Given the description of an element on the screen output the (x, y) to click on. 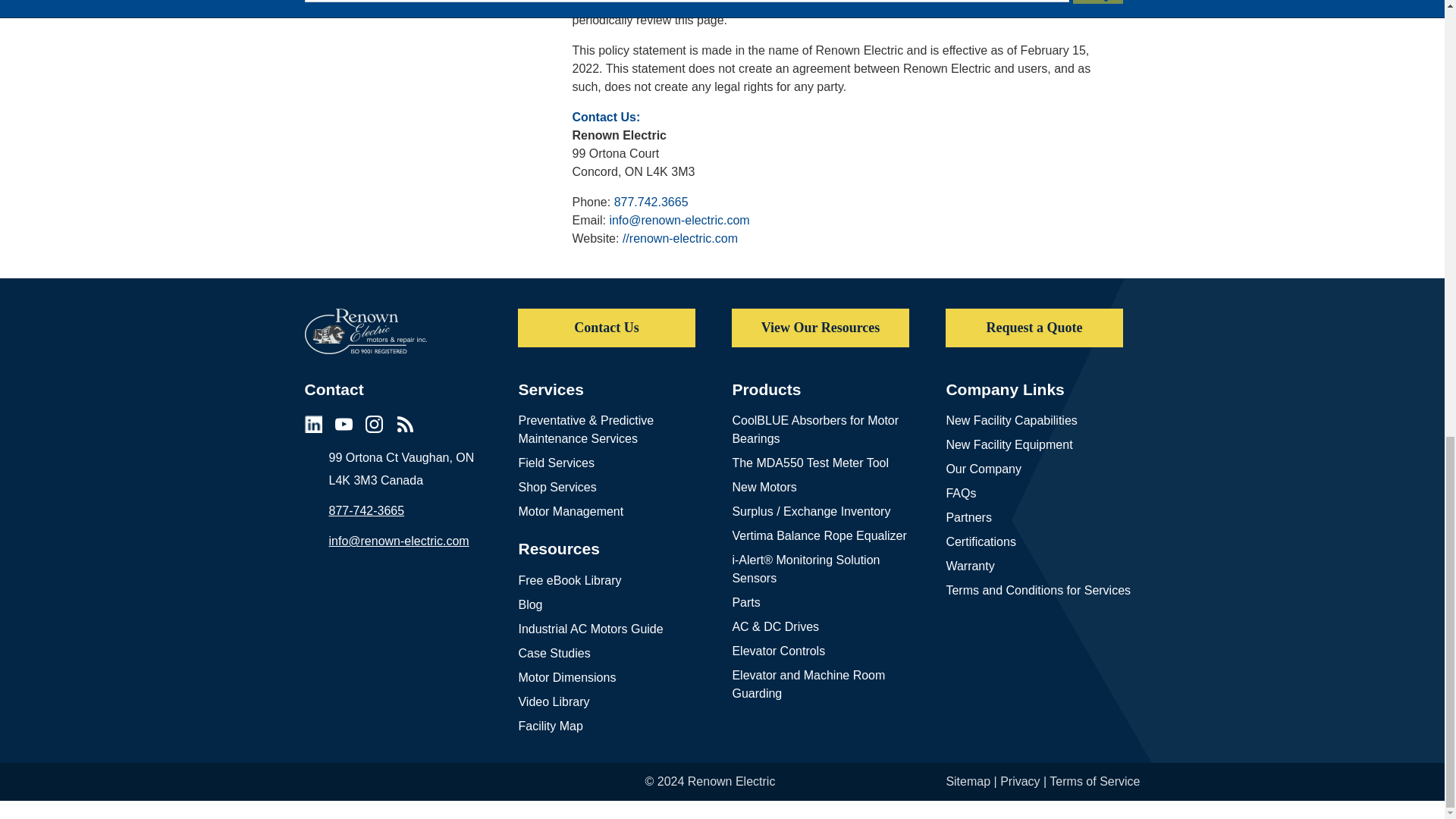
Renown Electric (365, 330)
linkedin (312, 424)
Youtube (343, 424)
Blogs (404, 424)
Instagram (373, 424)
